Given the description of an element on the screen output the (x, y) to click on. 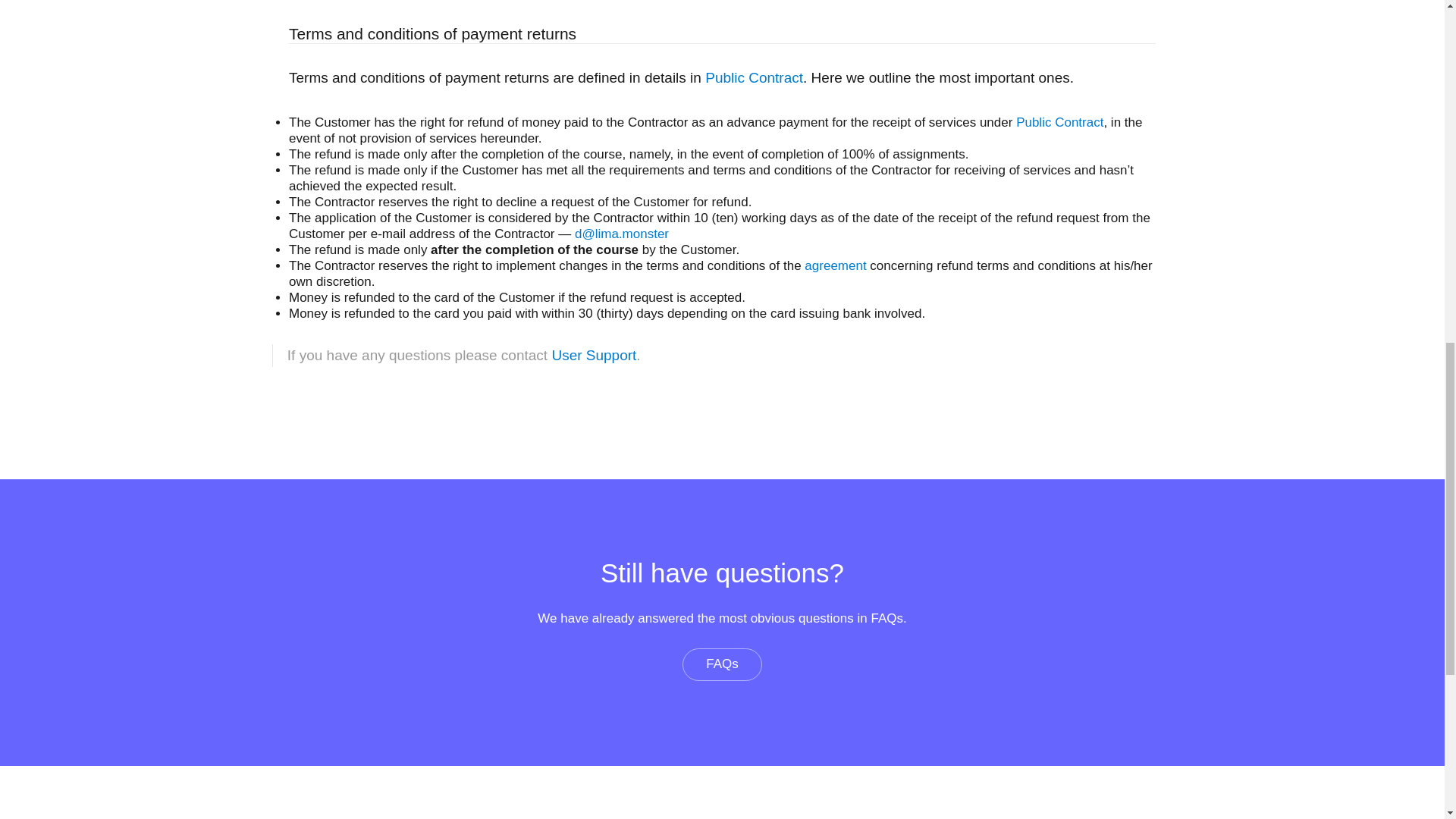
User Support (593, 355)
FAQs (721, 664)
Public Contract (1059, 122)
agreement (835, 265)
Public Contract (753, 77)
